Given the description of an element on the screen output the (x, y) to click on. 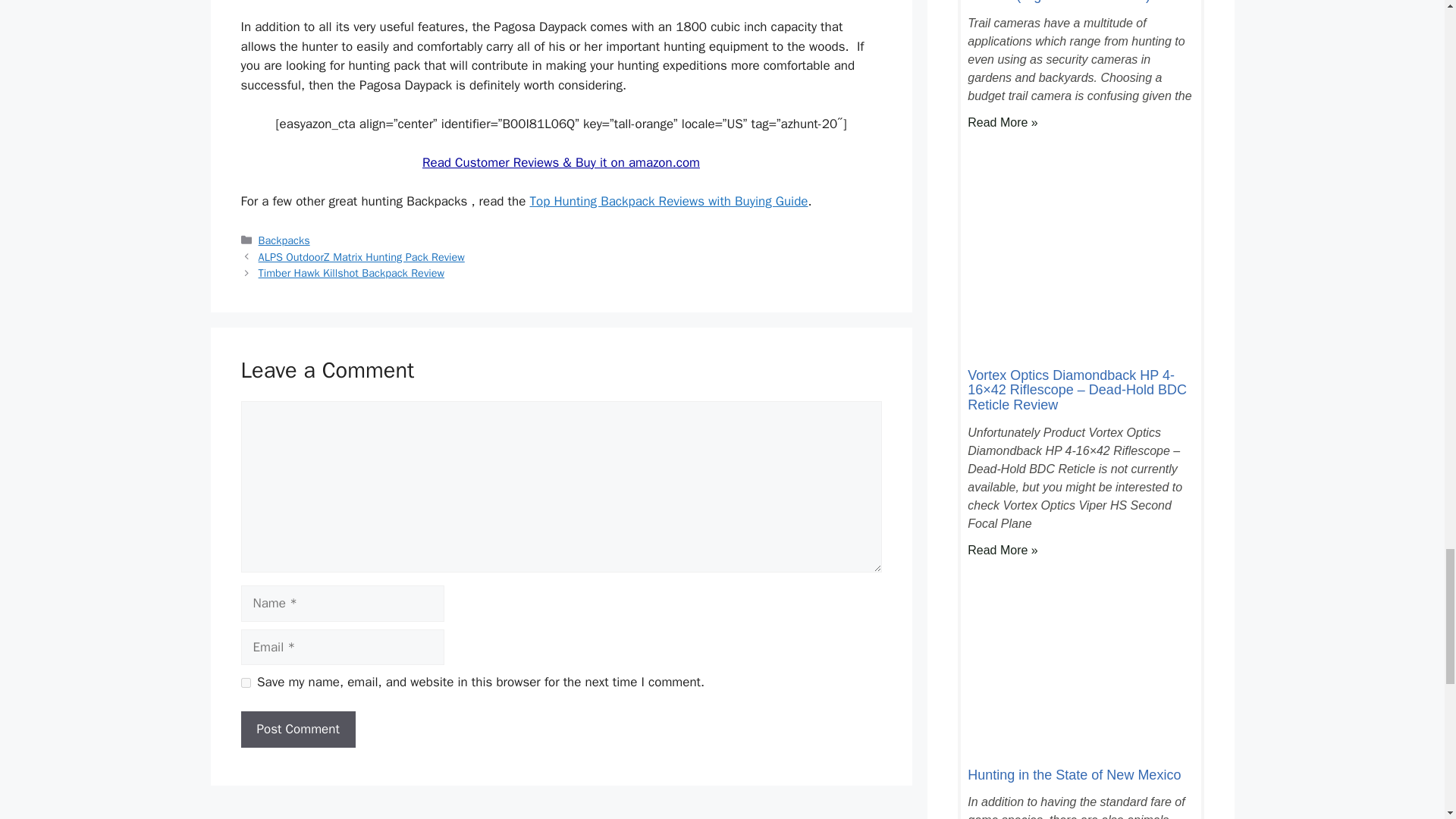
Post Comment (298, 729)
Top Hunting Backpack Reviews with Buying Guide (668, 201)
Backpacks (284, 240)
Post Comment (298, 729)
Timber Hawk Killshot Backpack Review (351, 273)
ALPS OutdoorZ Matrix Hunting Pack Review (361, 256)
yes (245, 682)
